Given the description of an element on the screen output the (x, y) to click on. 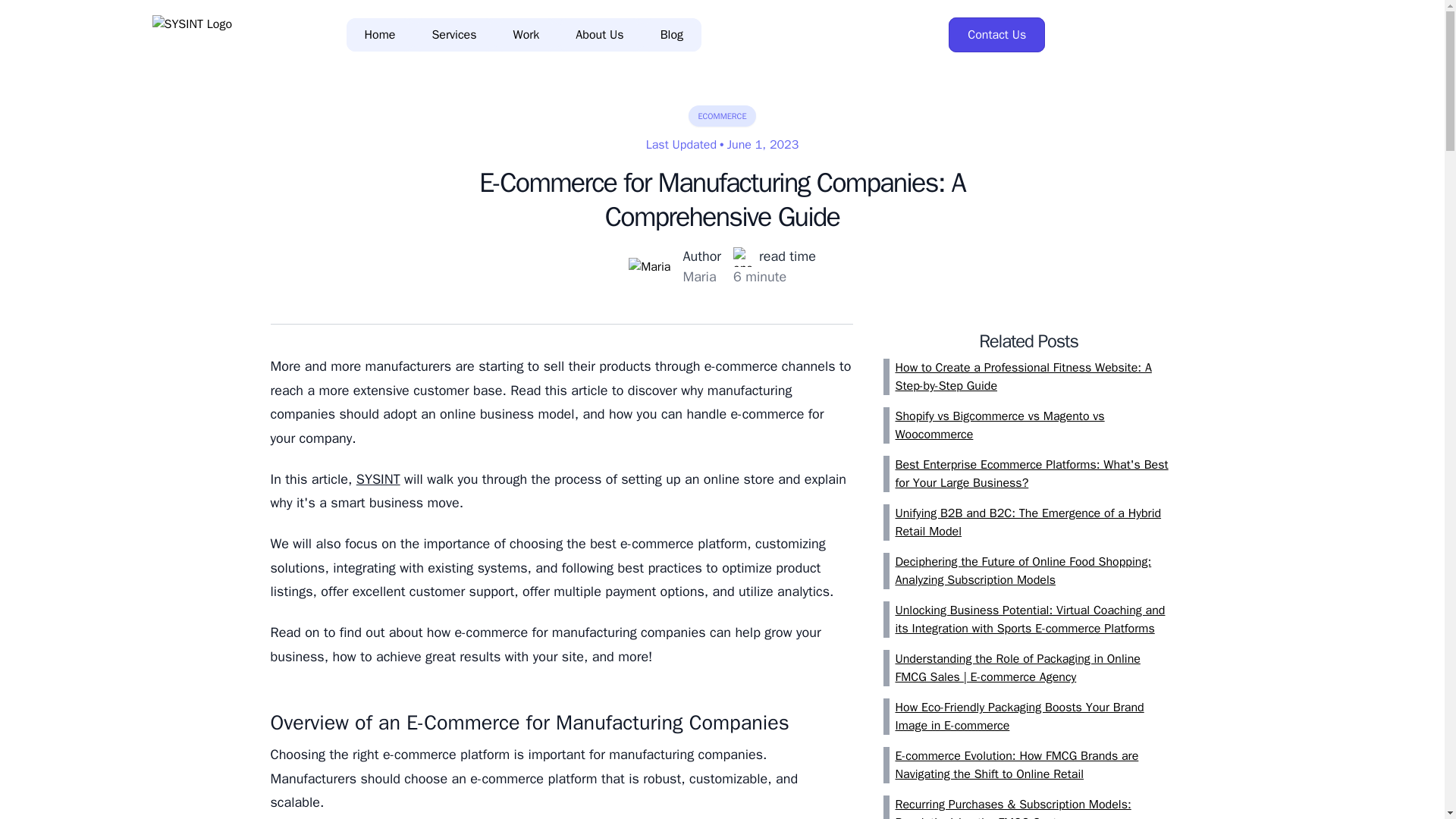
Services (453, 34)
About Us (599, 34)
Unifying B2B and B2C: The Emergence of a Hybrid Retail Model (1034, 522)
Shopify vs Bigcommerce vs Magento vs Woocommerce (1034, 425)
Work (526, 34)
